Given the description of an element on the screen output the (x, y) to click on. 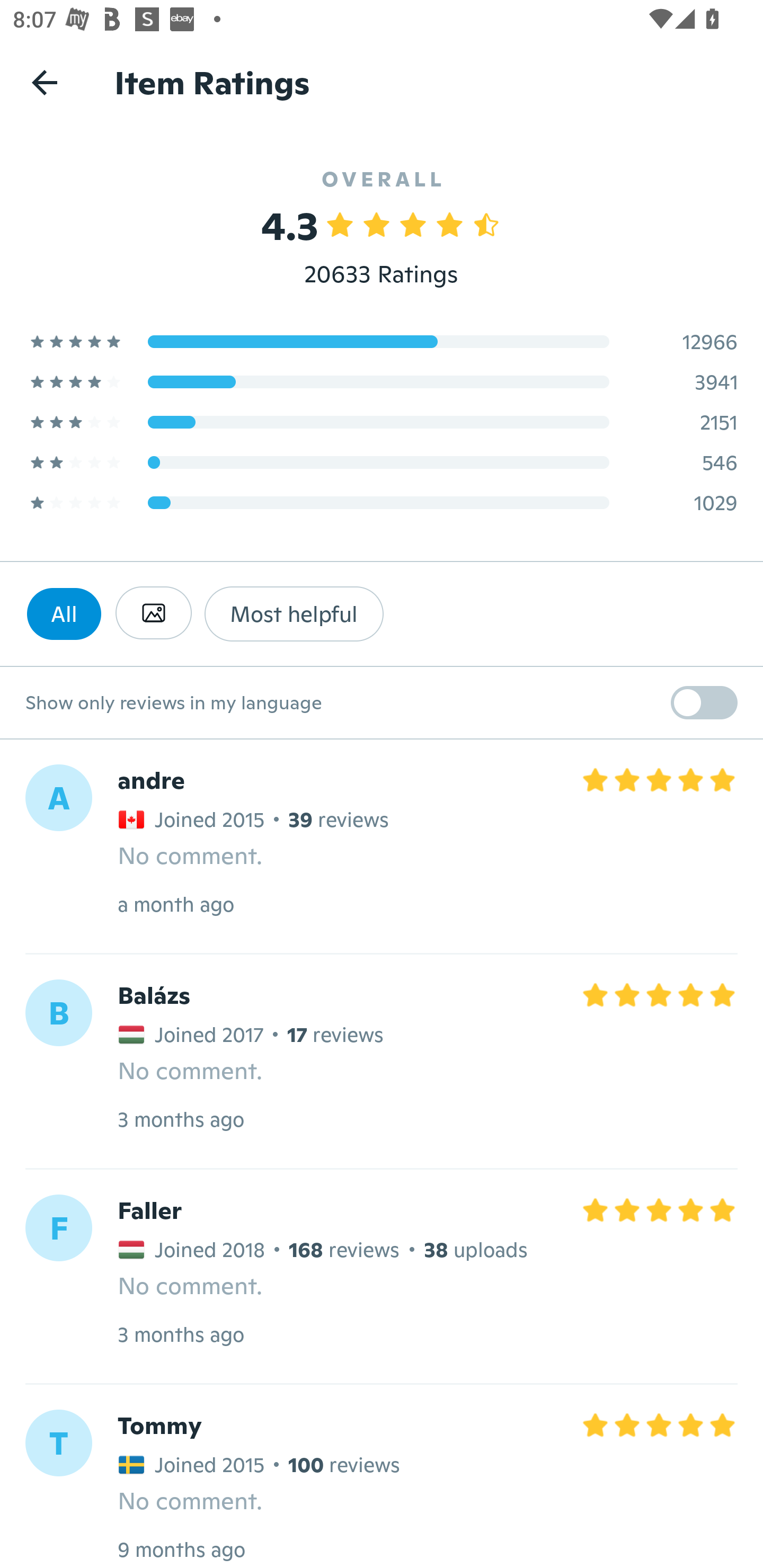
Navigate up (44, 82)
5 Star Rating 12966 (381, 341)
4 Star Rating 3941 (381, 381)
3 Star Rating 2151 (381, 421)
2 Star Rating 546 (381, 462)
1 Star Rating 1029 (381, 502)
All (64, 613)
Has photo (153, 612)
Most helpful (293, 613)
Show only reviews in my language (381, 702)
A (58, 798)
andre (150, 780)
a month ago (175, 903)
B (58, 1012)
Balázs (153, 995)
3 months ago (180, 1119)
F (58, 1227)
Faller (149, 1210)
3 months ago (180, 1334)
T (58, 1443)
Tommy (159, 1424)
9 months ago (181, 1549)
